Given the description of an element on the screen output the (x, y) to click on. 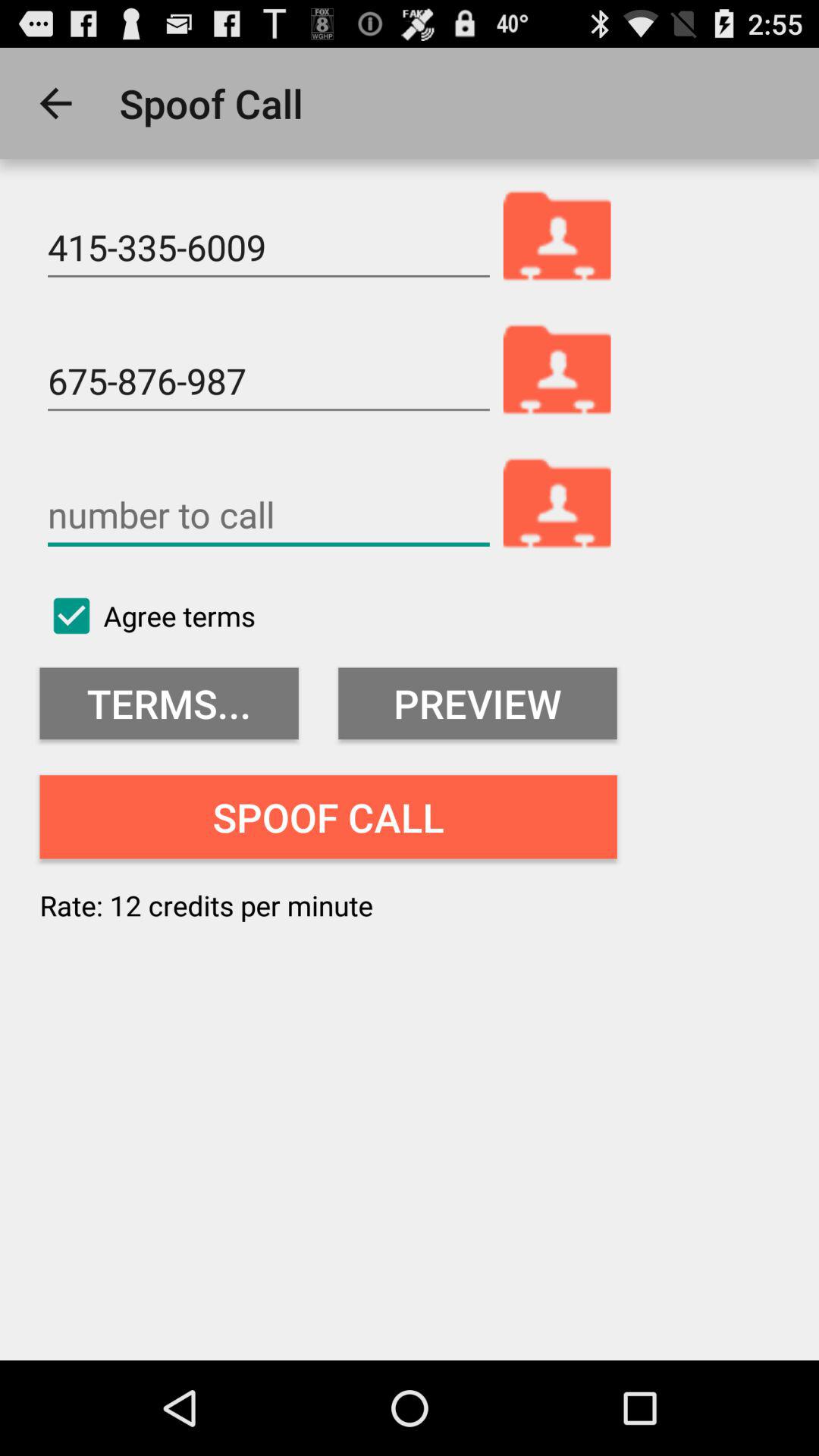
click the item next to the preview icon (168, 703)
